Given the description of an element on the screen output the (x, y) to click on. 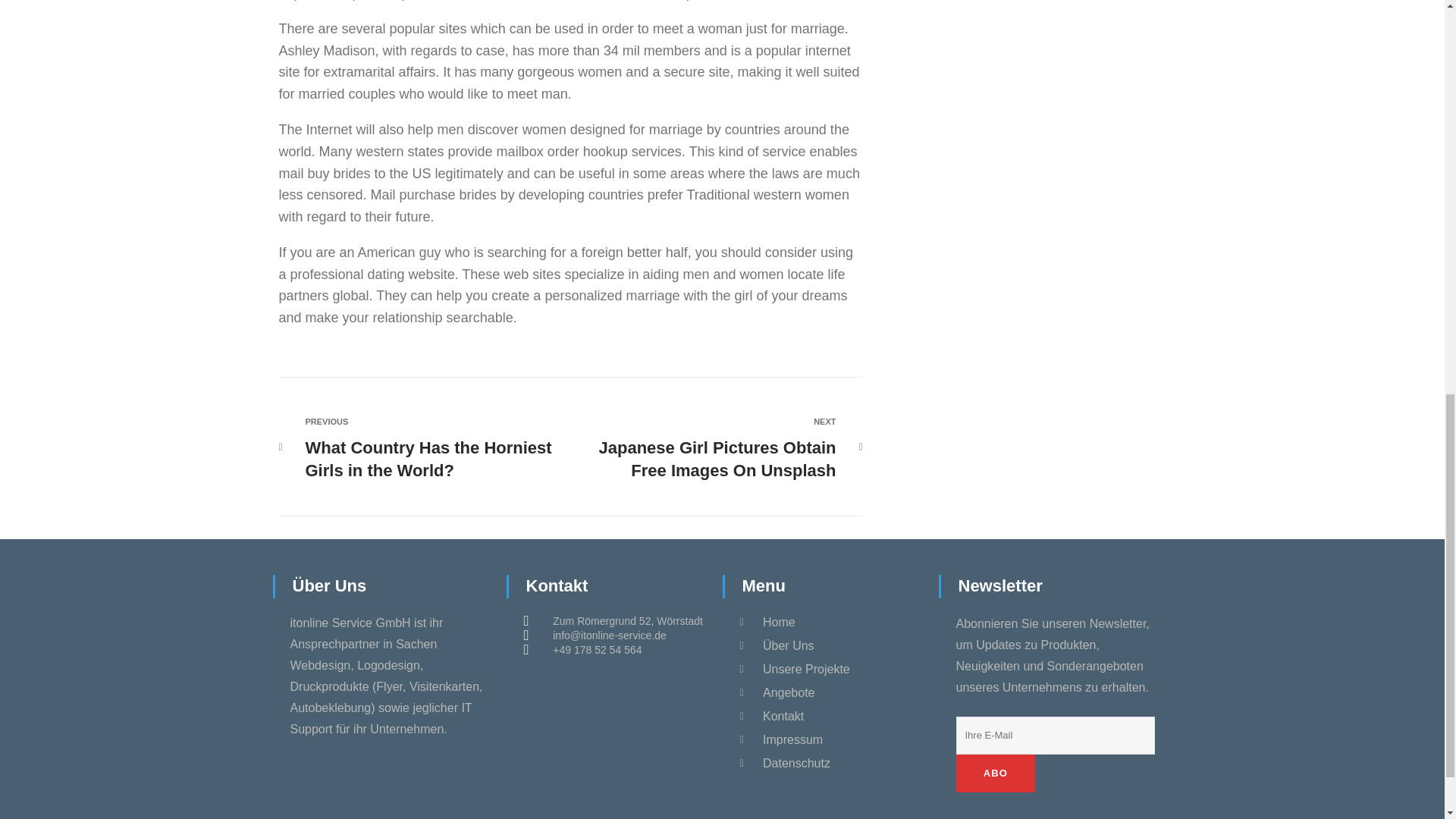
Kontakt (830, 716)
Home (708, 448)
Impressum (830, 622)
Datenschutz (830, 739)
Angebote (830, 763)
Unsere Projekte (431, 448)
